Given the description of an element on the screen output the (x, y) to click on. 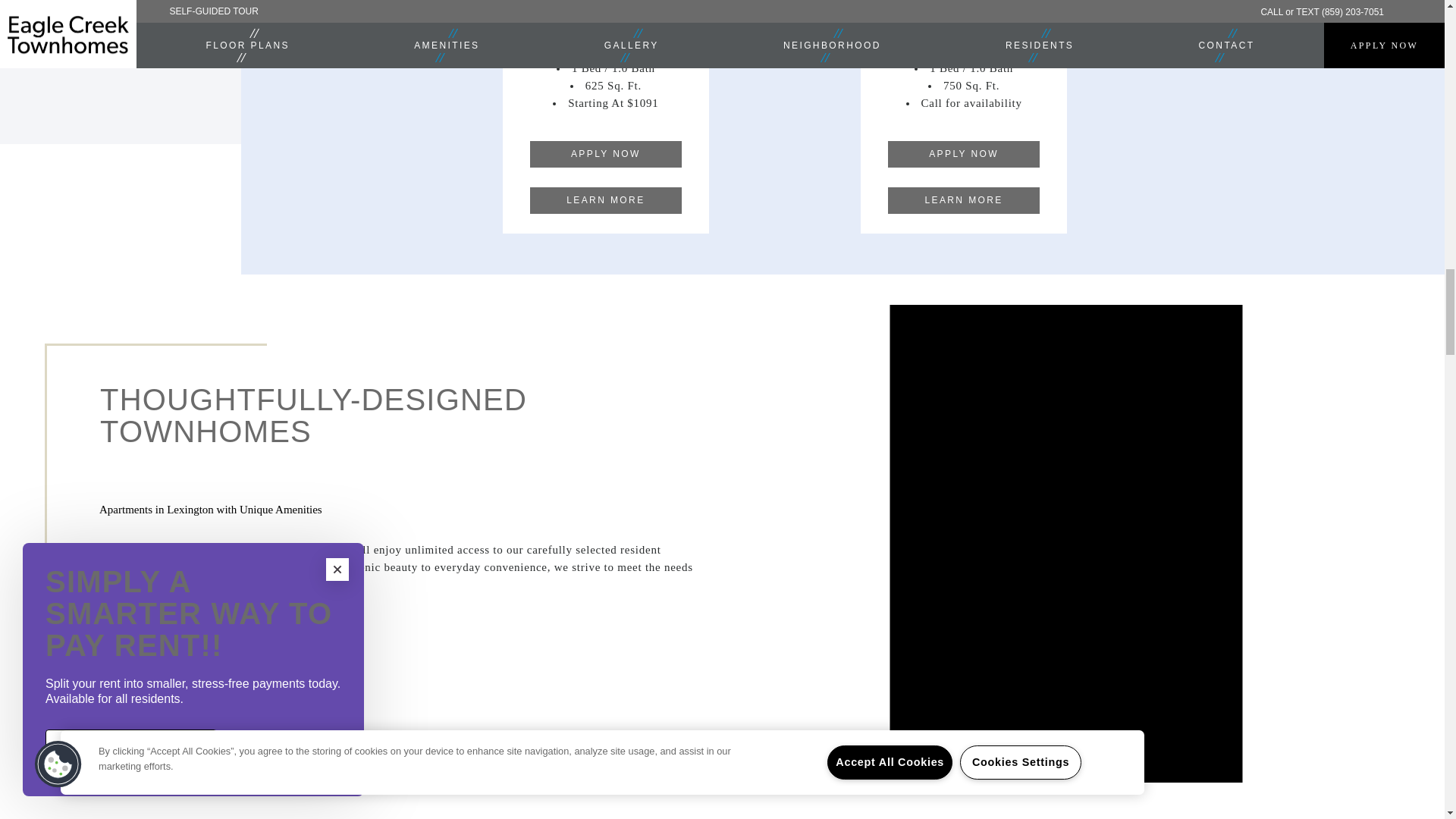
THREE (120, 45)
TWO (119, 12)
